Given the description of an element on the screen output the (x, y) to click on. 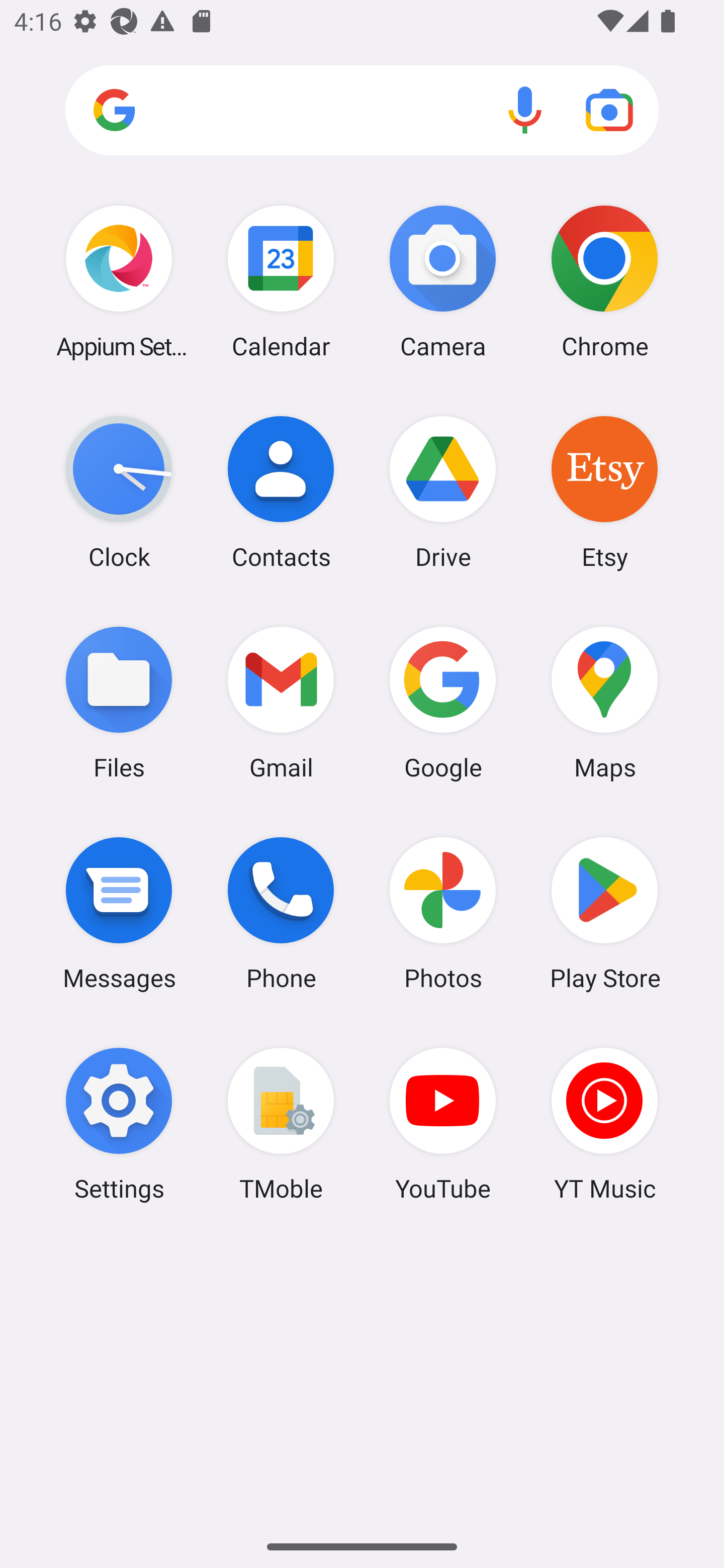
Search apps, web and more (361, 110)
Voice search (524, 109)
Google Lens (608, 109)
Appium Settings (118, 281)
Calendar (280, 281)
Camera (443, 281)
Chrome (604, 281)
Clock (118, 492)
Contacts (280, 492)
Drive (443, 492)
Etsy (604, 492)
Files (118, 702)
Gmail (280, 702)
Google (443, 702)
Maps (604, 702)
Messages (118, 913)
Phone (280, 913)
Photos (443, 913)
Play Store (604, 913)
Settings (118, 1124)
TMoble (280, 1124)
YouTube (443, 1124)
YT Music (604, 1124)
